Given the description of an element on the screen output the (x, y) to click on. 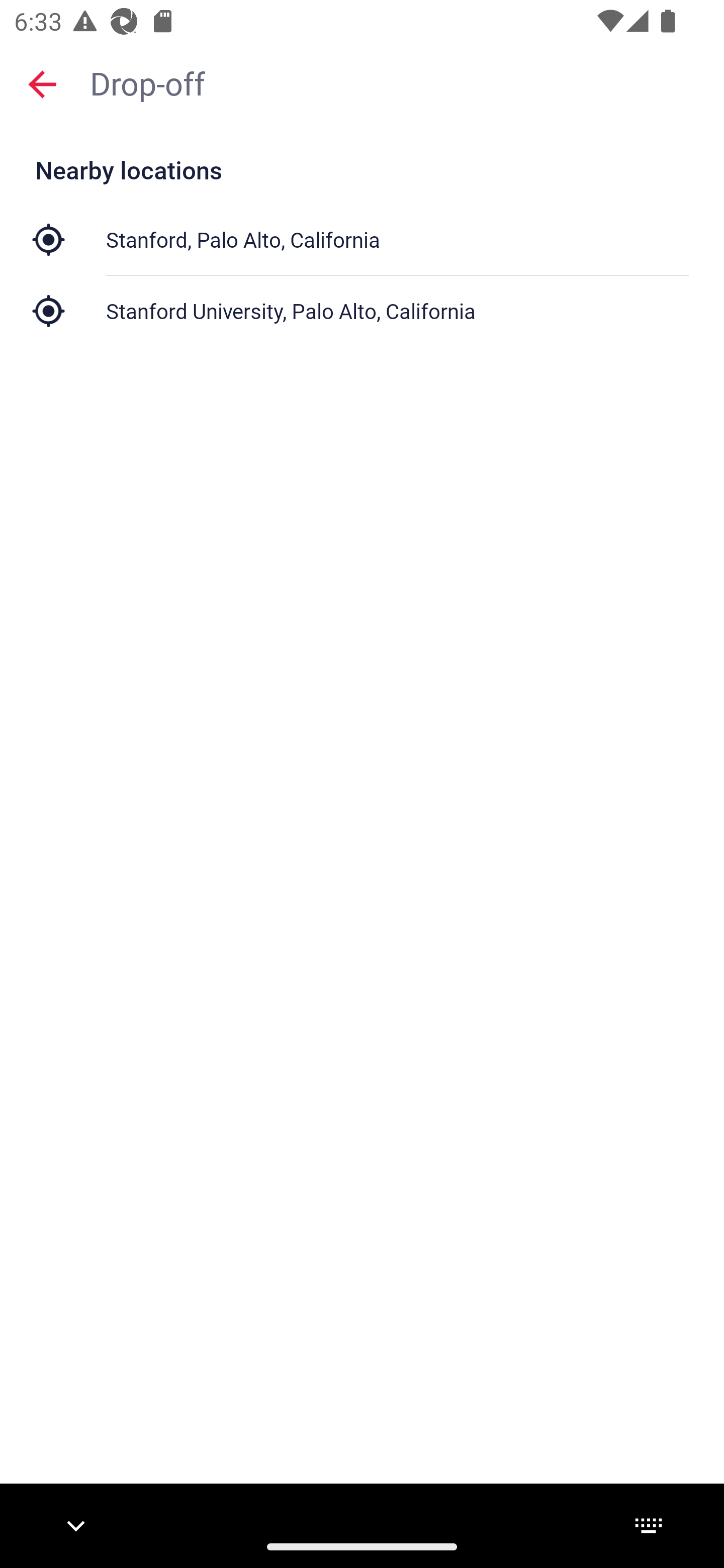
Drop-off,  (397, 82)
Close search screen (41, 83)
